Given the description of an element on the screen output the (x, y) to click on. 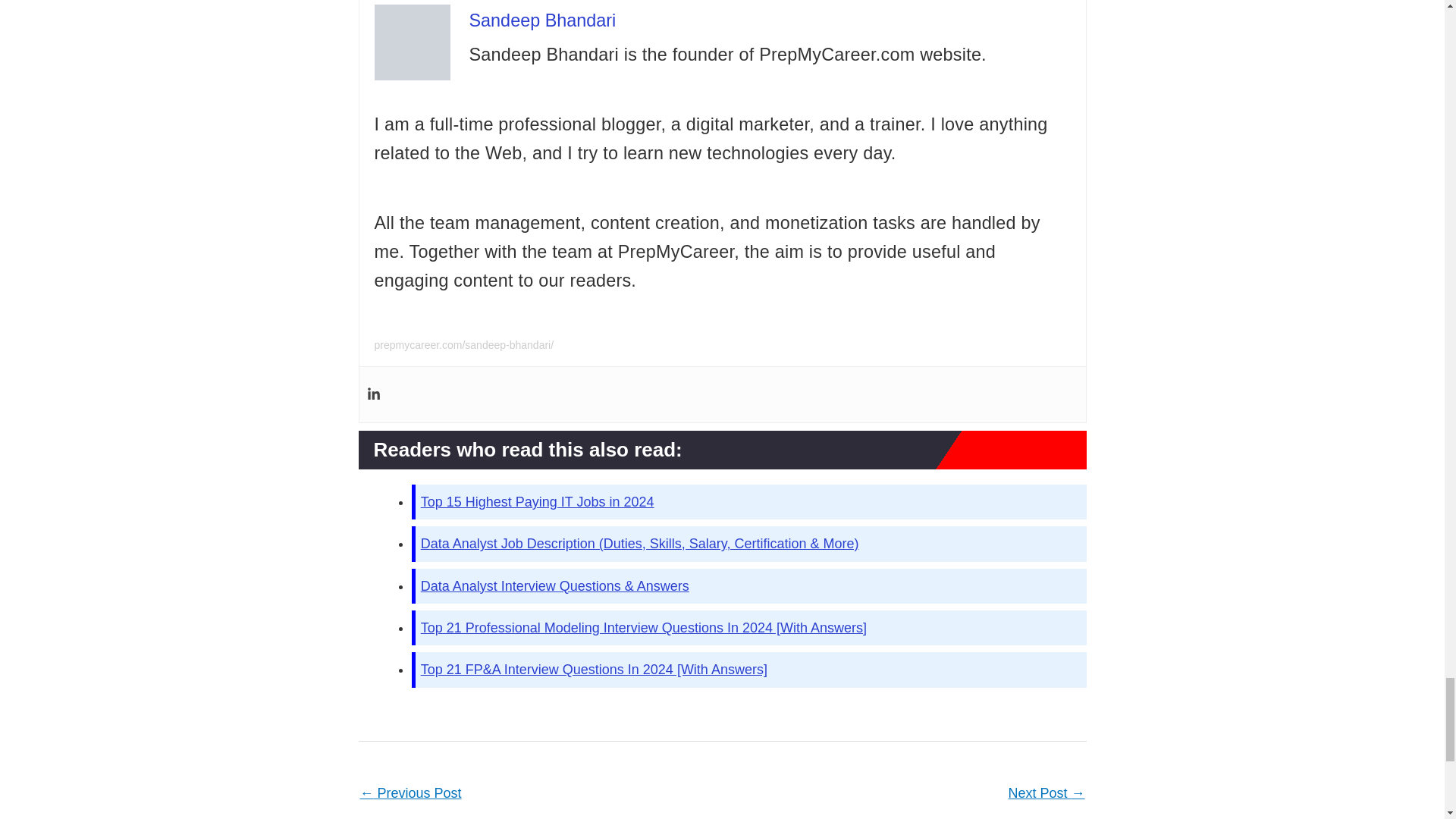
Top 15 Highest Paying IT Jobs in 2024 (536, 501)
Sandeep Bhandari (541, 20)
Top 15 Highest Paying IT Jobs in 2024 (536, 501)
